Given the description of an element on the screen output the (x, y) to click on. 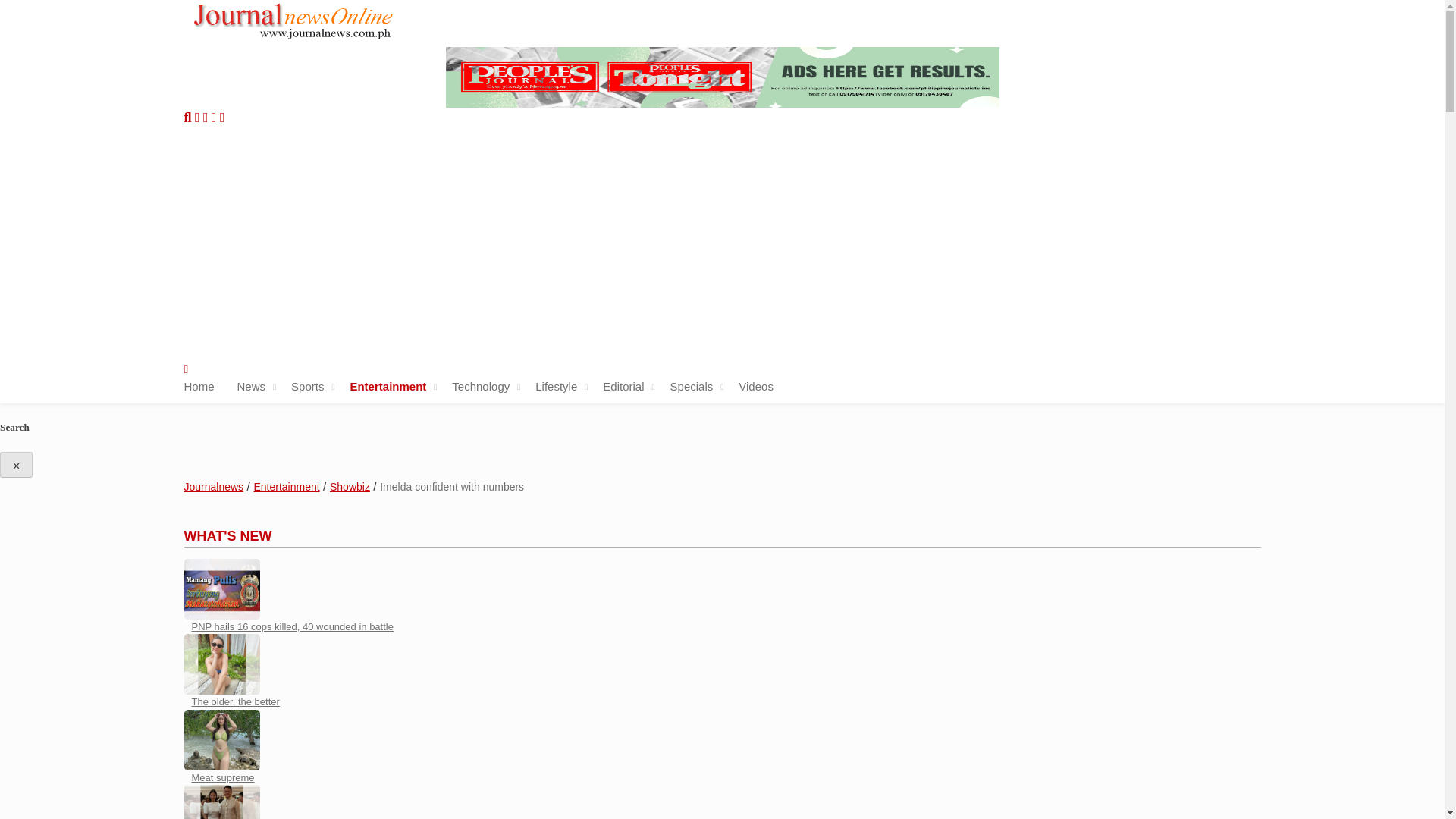
Sports (307, 386)
Go to the Entertainment category archives. (285, 486)
News (251, 386)
Editorial (622, 386)
Home (198, 386)
Lifestyle (555, 386)
Go to the Showbiz category archives. (349, 486)
Entertainment (387, 386)
Technology (480, 386)
Specials (691, 386)
Go to Journalnews. (213, 486)
